Given the description of an element on the screen output the (x, y) to click on. 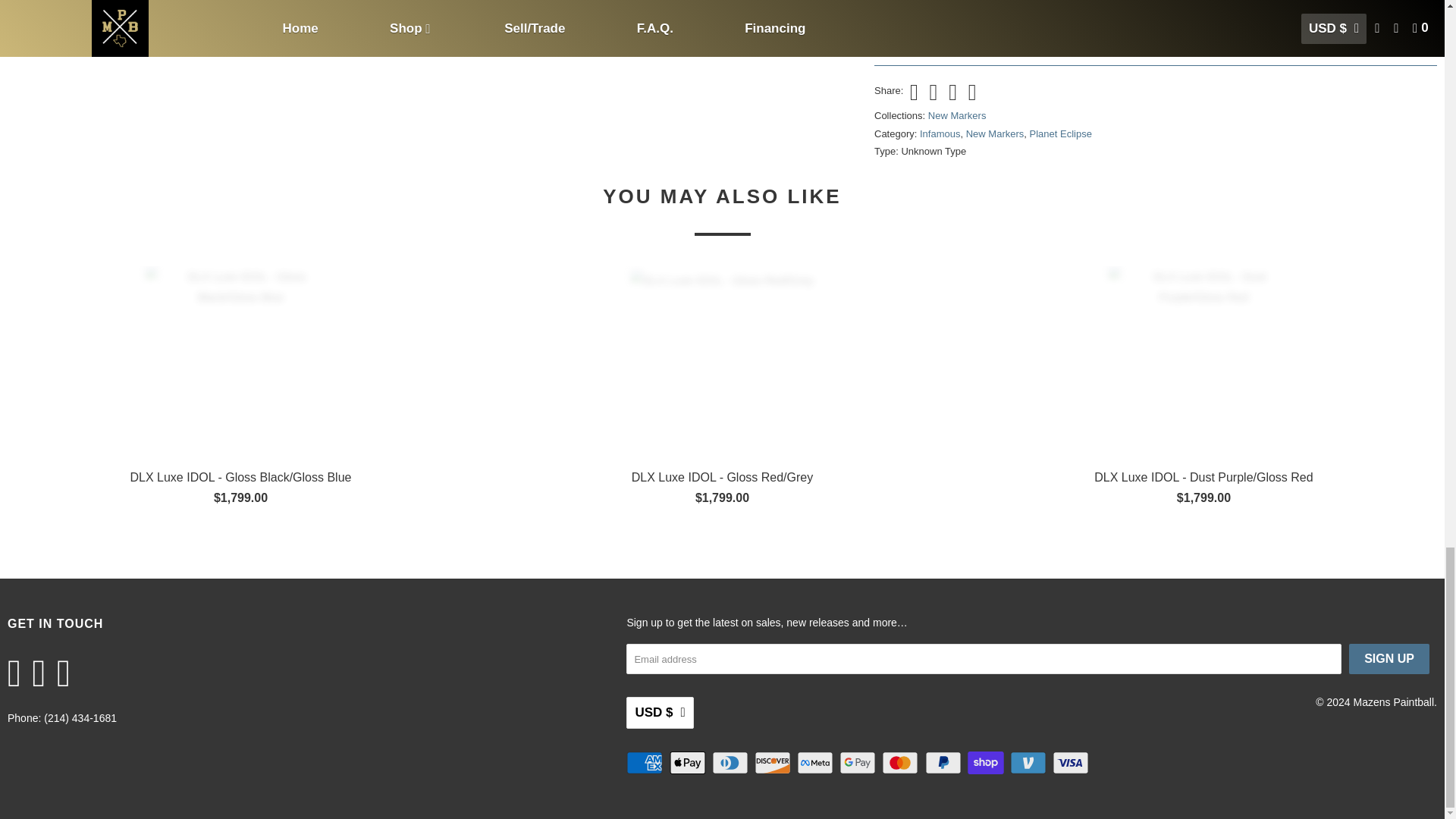
Venmo (1029, 762)
PayPal (943, 762)
Sign Up (1389, 658)
Discover (773, 762)
New Markers (957, 115)
Products tagged Planet Eclipse (1060, 133)
Diners Club (731, 762)
Apple Pay (689, 762)
Shop Pay (987, 762)
Mastercard (901, 762)
Products tagged Infamous (939, 133)
Visa (1072, 762)
Meta Pay (815, 762)
American Express (645, 762)
Products tagged New Markers (995, 133)
